Given the description of an element on the screen output the (x, y) to click on. 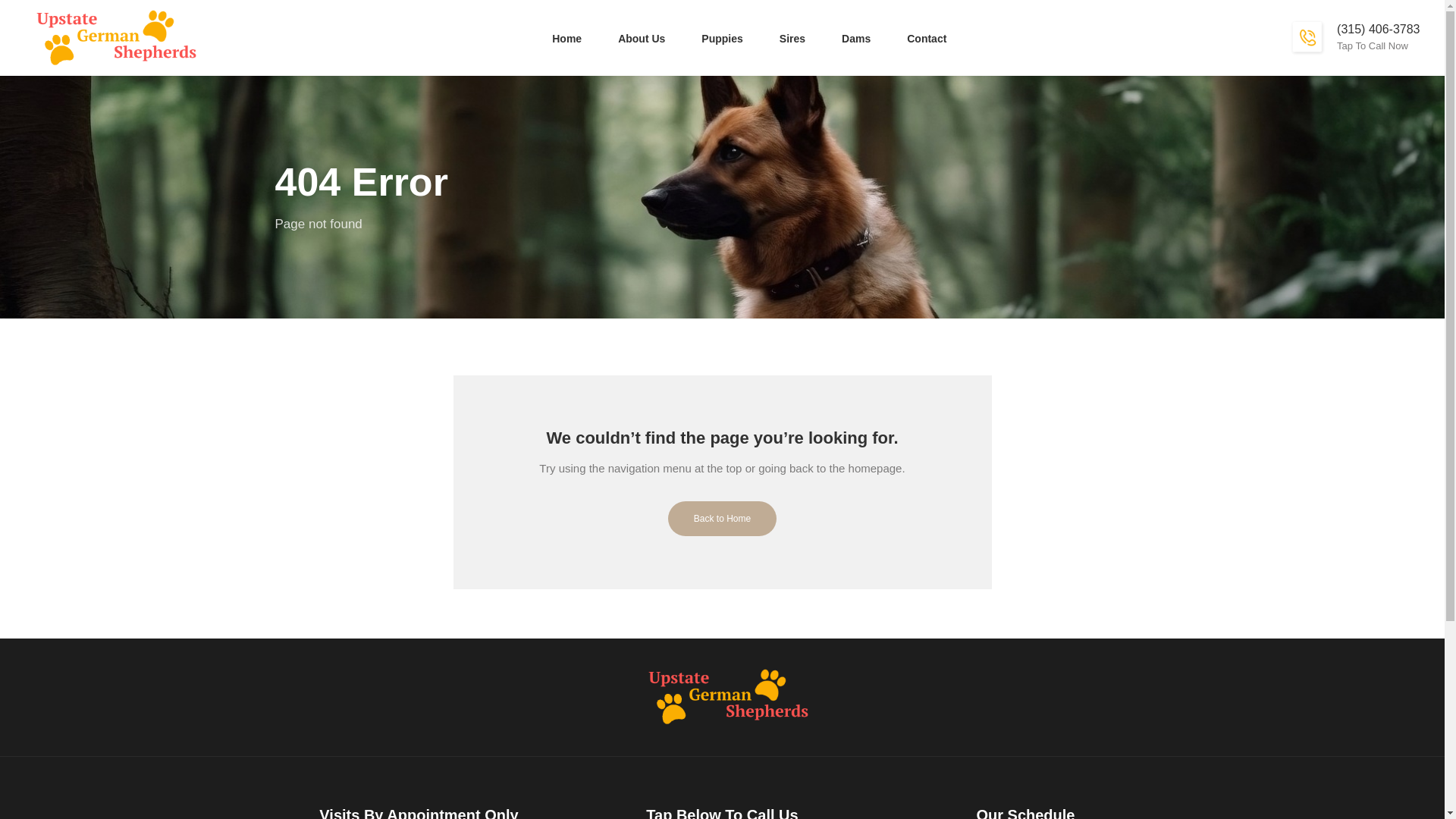
Back to Home (722, 529)
Upstate German Shepherds (721, 695)
Upstate German Shepherds (110, 37)
